Given the description of an element on the screen output the (x, y) to click on. 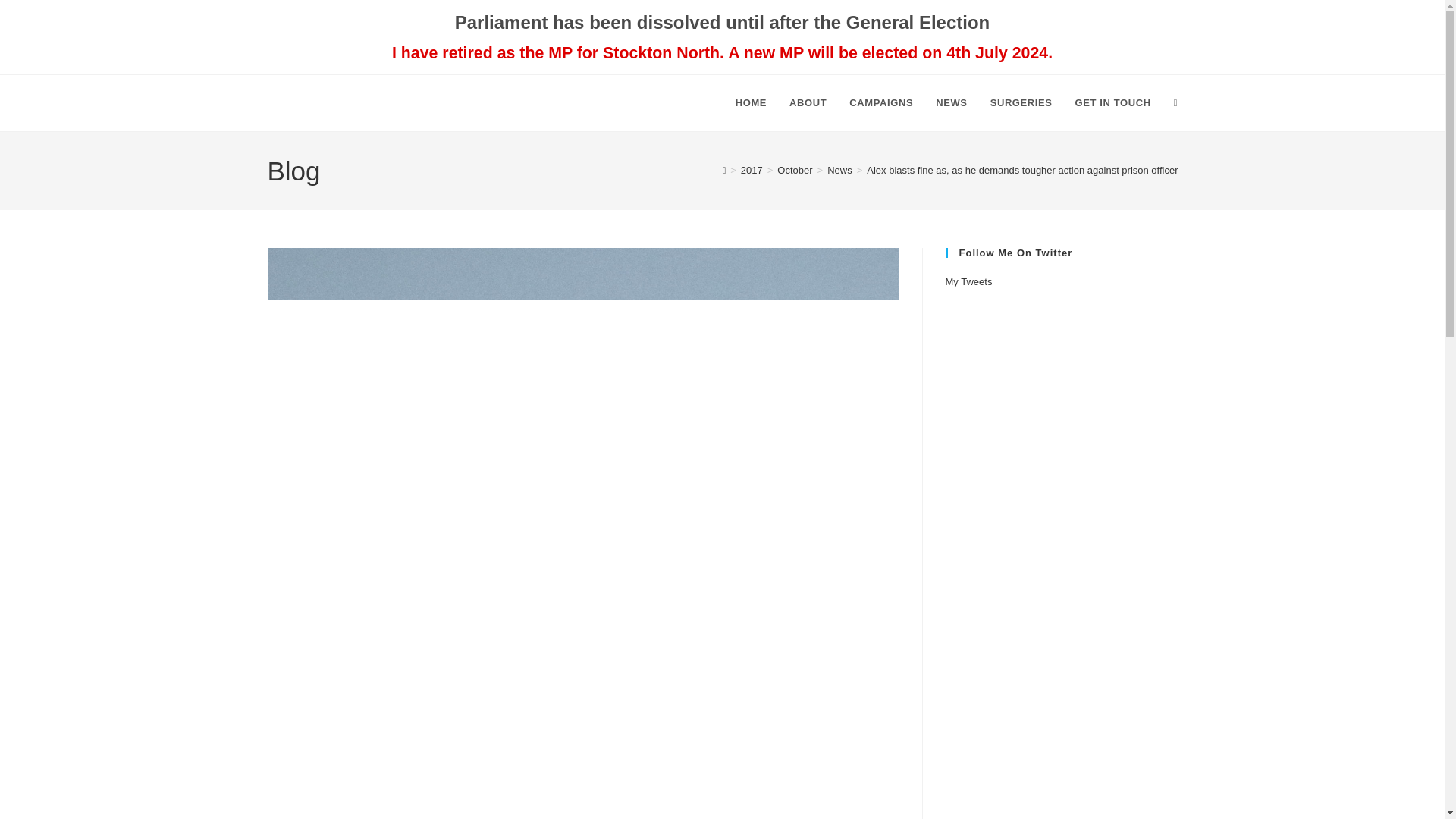
My Tweets (967, 281)
2017 (751, 170)
ABOUT (807, 103)
Alex Cunningham MP (374, 102)
News (839, 170)
NEWS (951, 103)
CAMPAIGNS (881, 103)
October (794, 170)
GET IN TOUCH (1112, 103)
